Given the description of an element on the screen output the (x, y) to click on. 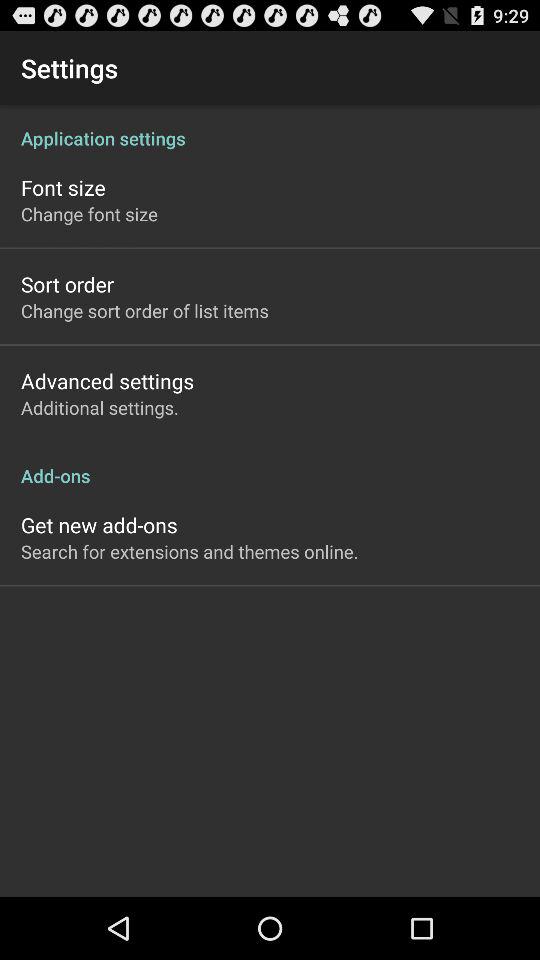
choose app below advanced settings icon (99, 407)
